Given the description of an element on the screen output the (x, y) to click on. 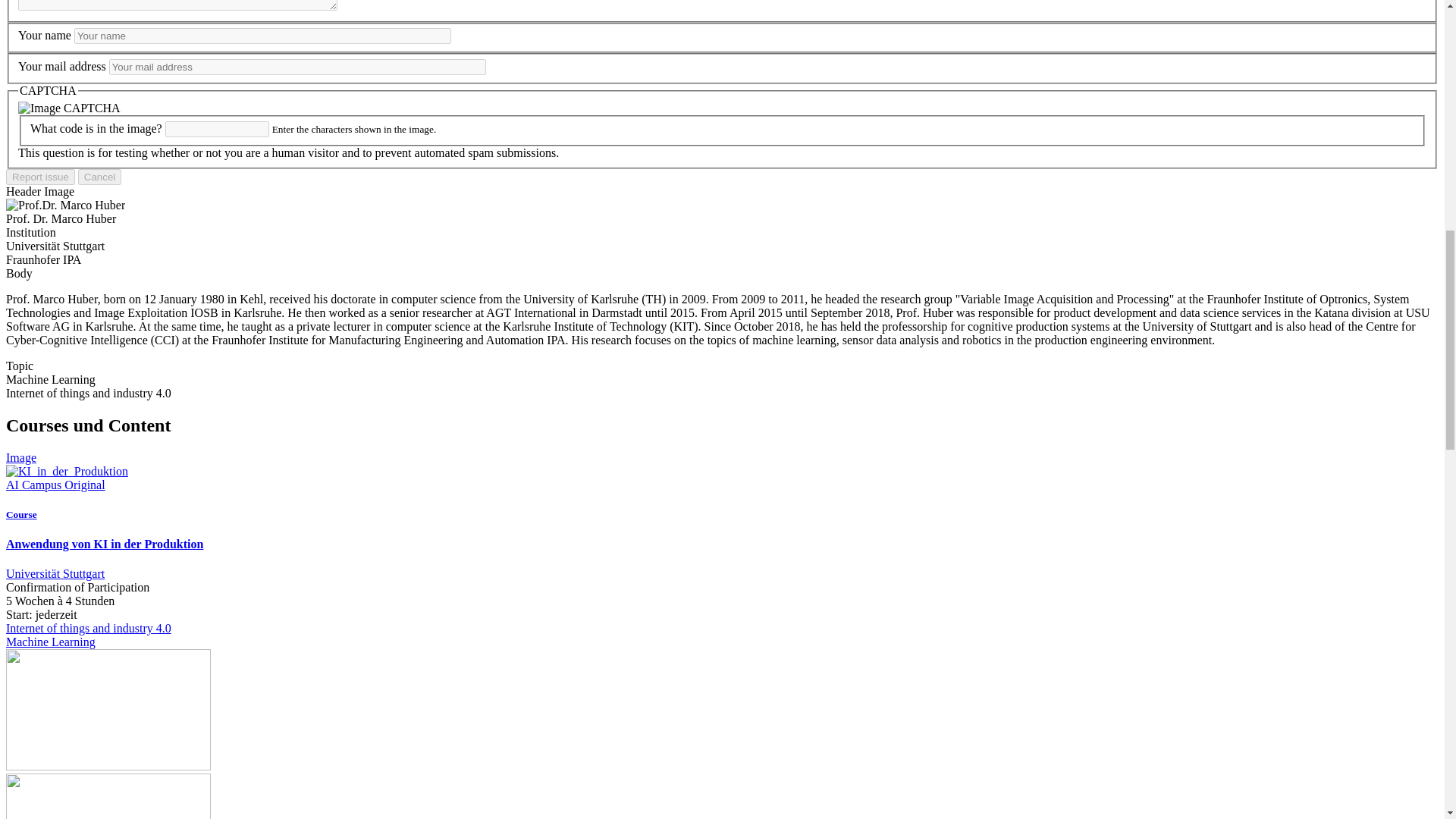
Cancel (100, 176)
Report issue (40, 176)
Image CAPTCHA (68, 108)
